Given the description of an element on the screen output the (x, y) to click on. 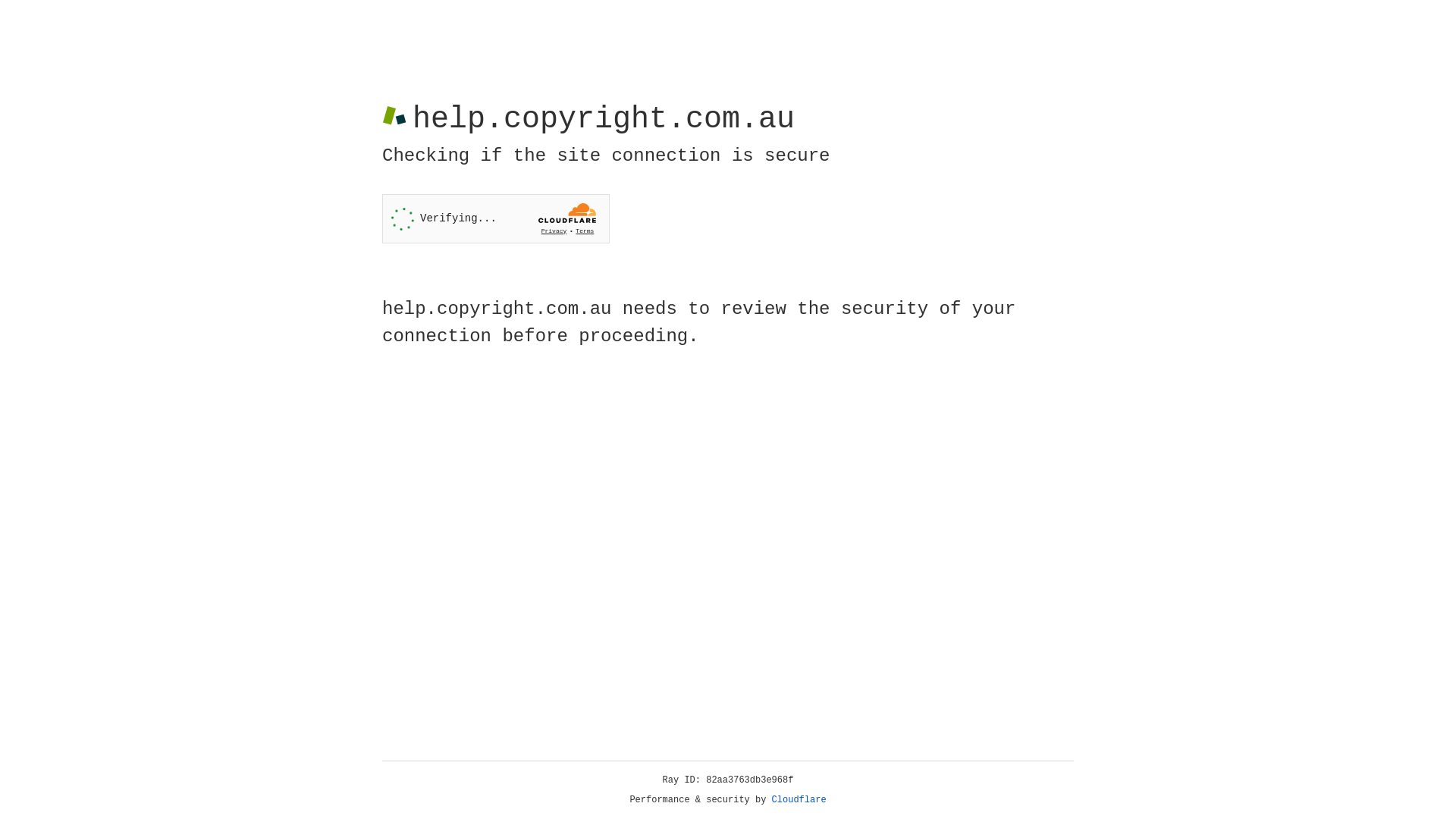
Cloudflare Element type: text (798, 799)
Widget containing a Cloudflare security challenge Element type: hover (495, 218)
